Given the description of an element on the screen output the (x, y) to click on. 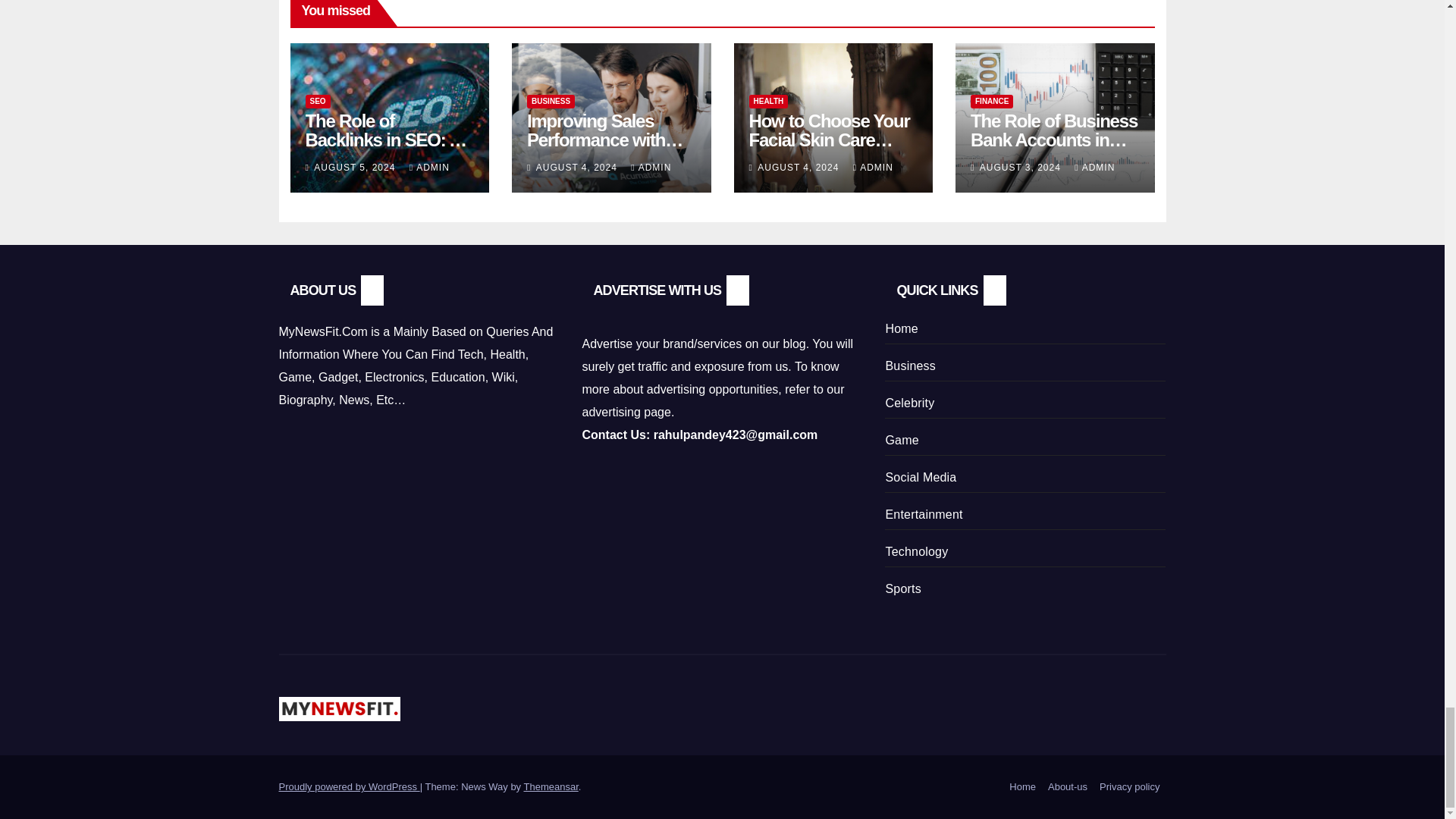
Permalink to: Improving Sales Performance with ERP Acumatica (604, 139)
